Given the description of an element on the screen output the (x, y) to click on. 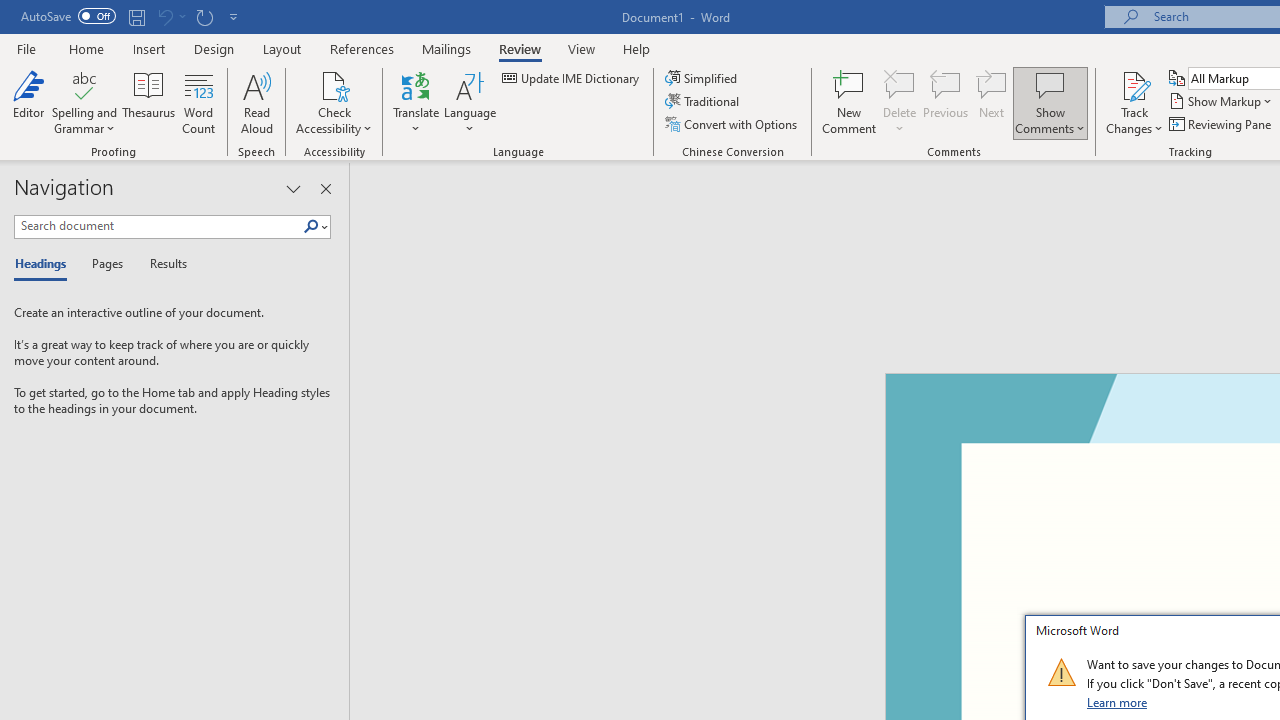
Spelling and Grammar (84, 102)
Show Comments (1050, 84)
Repeat Shrink Font (204, 15)
New Comment (849, 102)
